Given the description of an element on the screen output the (x, y) to click on. 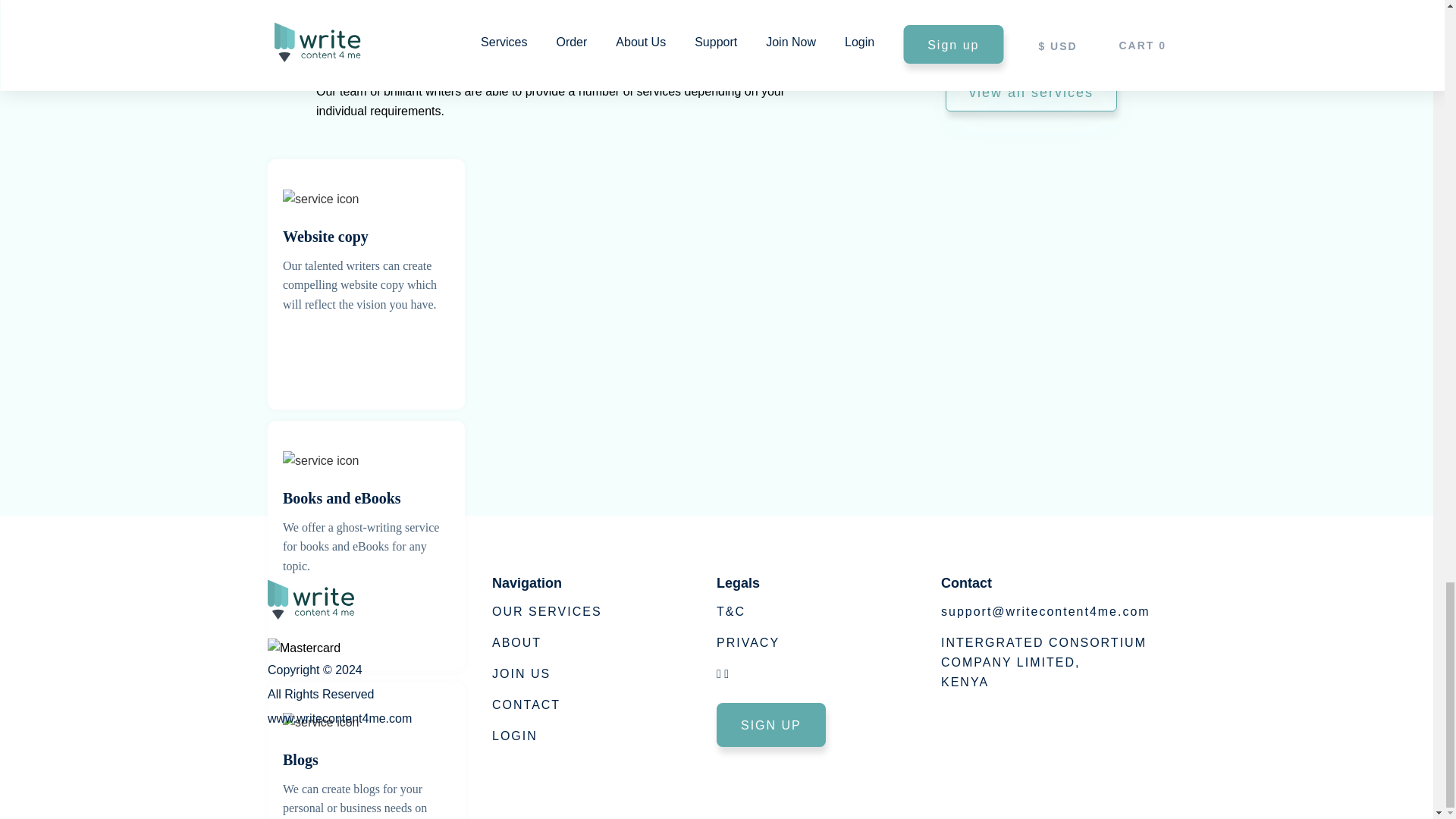
JOIN US (521, 680)
SIGN UP (770, 725)
LOGIN (514, 739)
ABOUT (516, 651)
www.writecontent4me.com (339, 735)
PRIVACY (747, 644)
view all services (1030, 92)
CONTACT (1043, 662)
OUR SERVICES (526, 709)
